Given the description of an element on the screen output the (x, y) to click on. 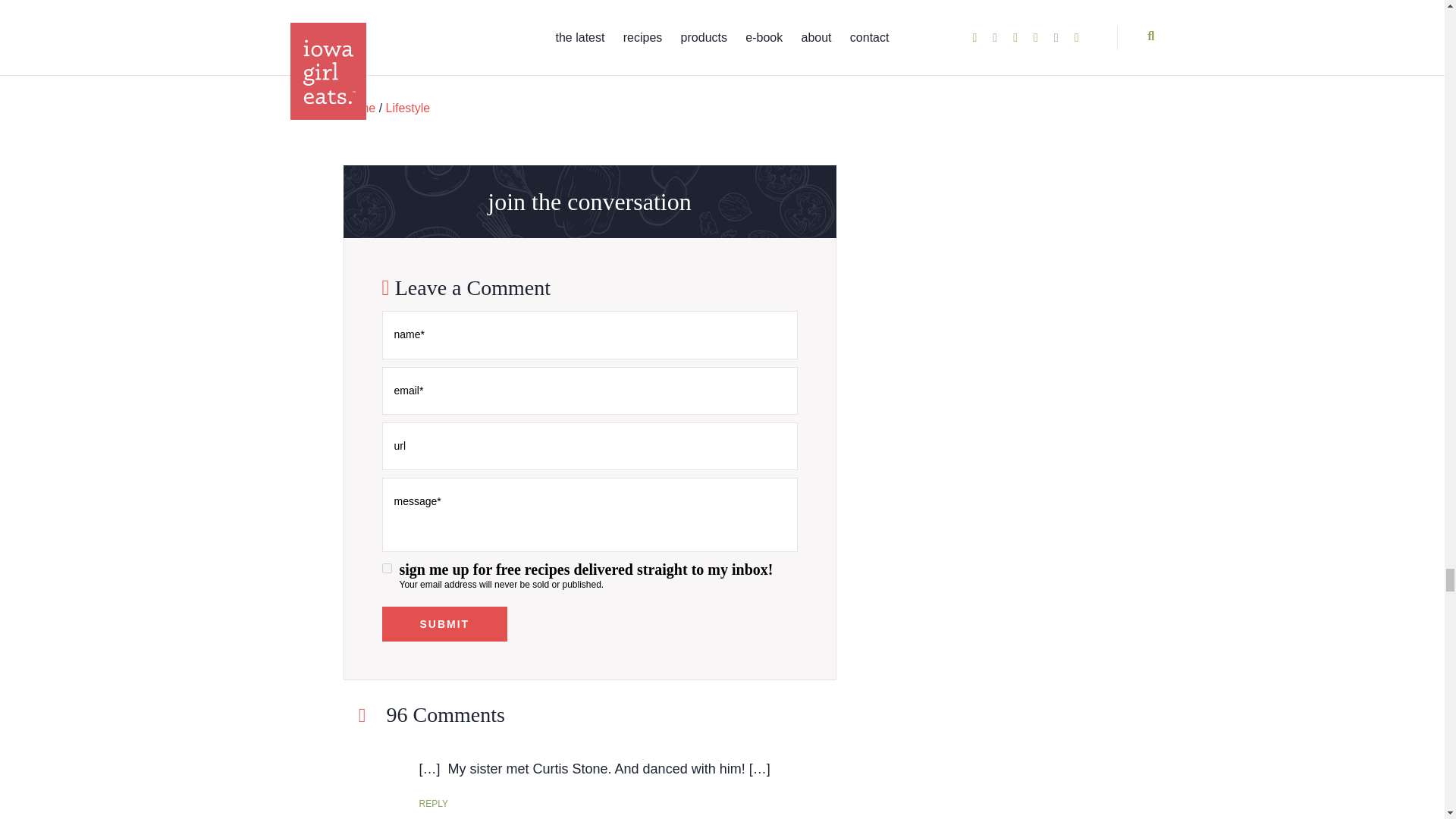
Submit (444, 623)
on (386, 568)
